Given the description of an element on the screen output the (x, y) to click on. 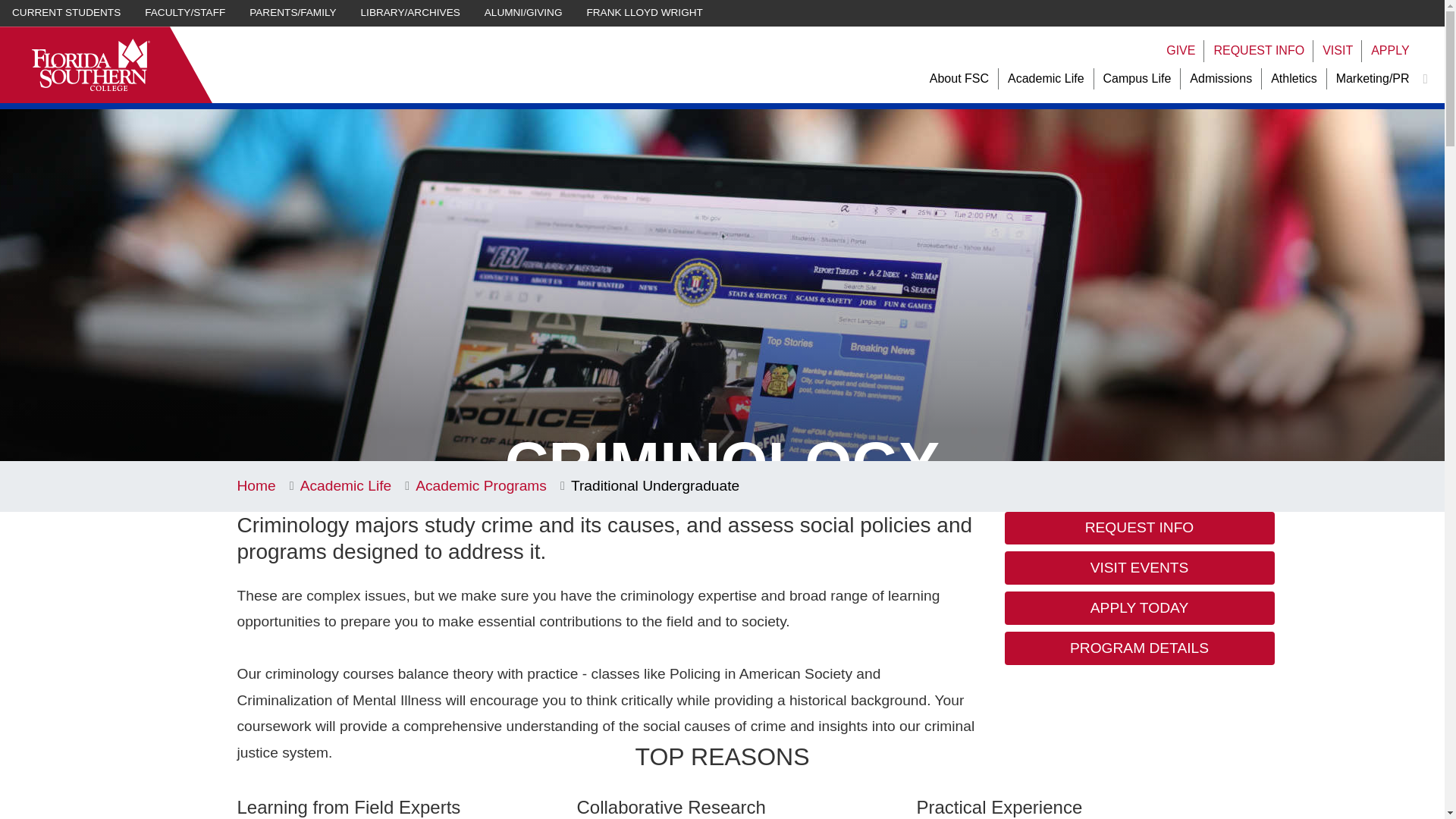
Campus Life (1137, 78)
Athletics (1293, 78)
APPLY (1390, 51)
CURRENT STUDENTS (65, 13)
Academic Life (1045, 78)
Admissions (1220, 78)
GIVE (1180, 51)
VISIT (1337, 51)
REQUEST INFO (1258, 51)
FRANK LLOYD WRIGHT (644, 13)
